Given the description of an element on the screen output the (x, y) to click on. 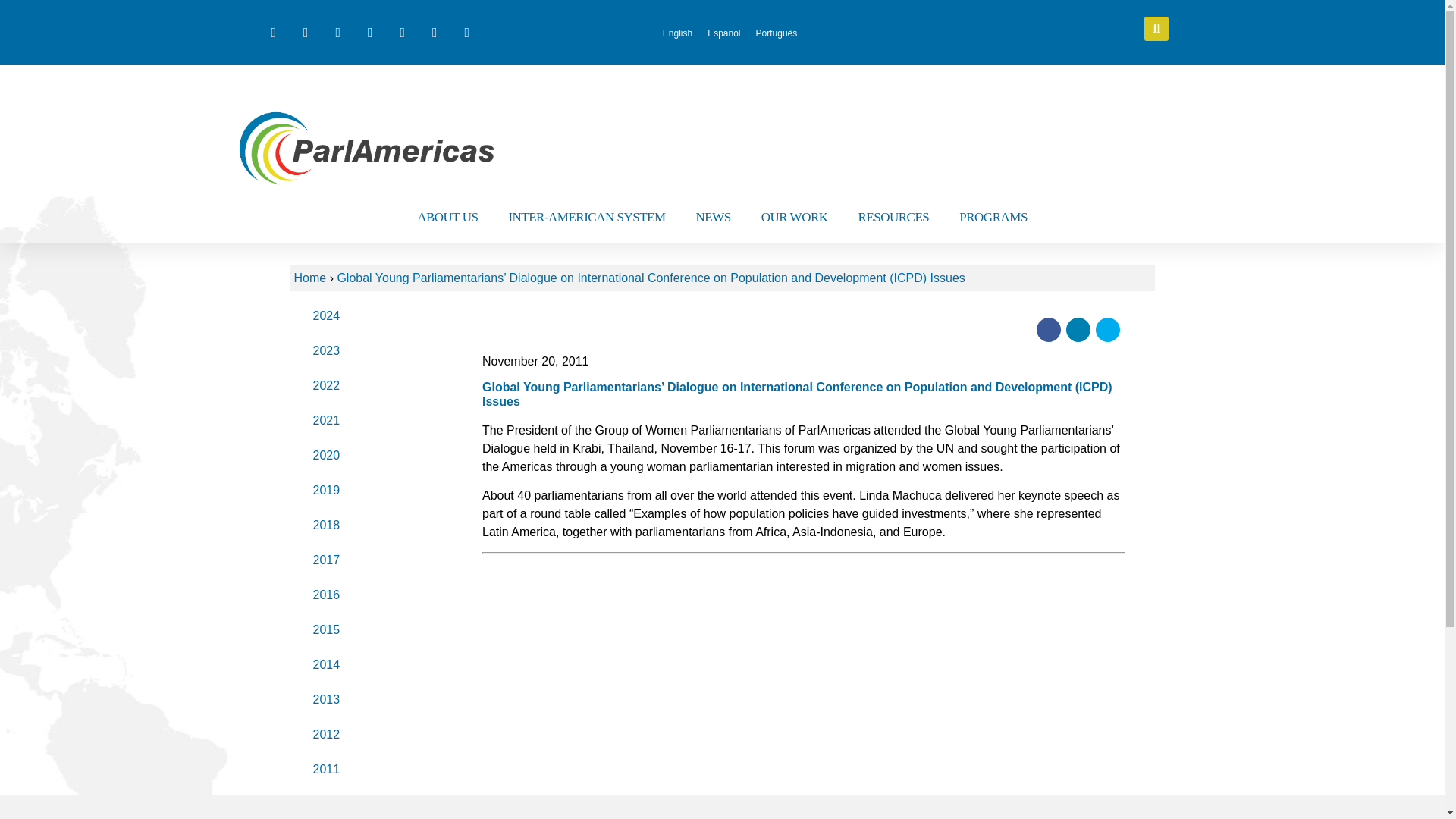
English (677, 33)
Home (310, 277)
NEWS (713, 217)
INTER-AMERICAN SYSTEM (586, 217)
ABOUT US (447, 217)
